Given the description of an element on the screen output the (x, y) to click on. 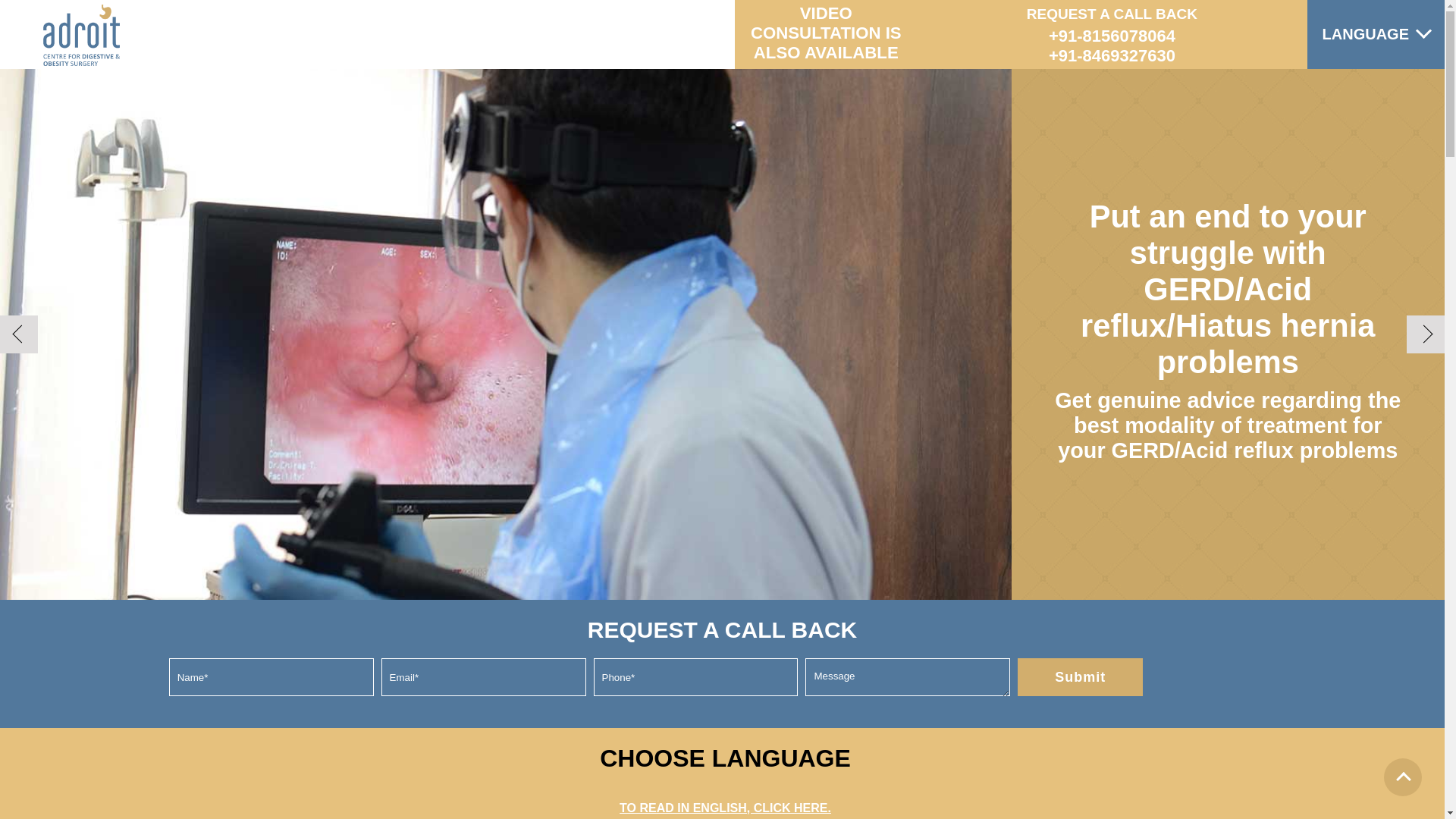
Submit (1079, 677)
TO READ IN ENGLISH, CLICK HERE. (725, 807)
Submit (1079, 677)
